Given the description of an element on the screen output the (x, y) to click on. 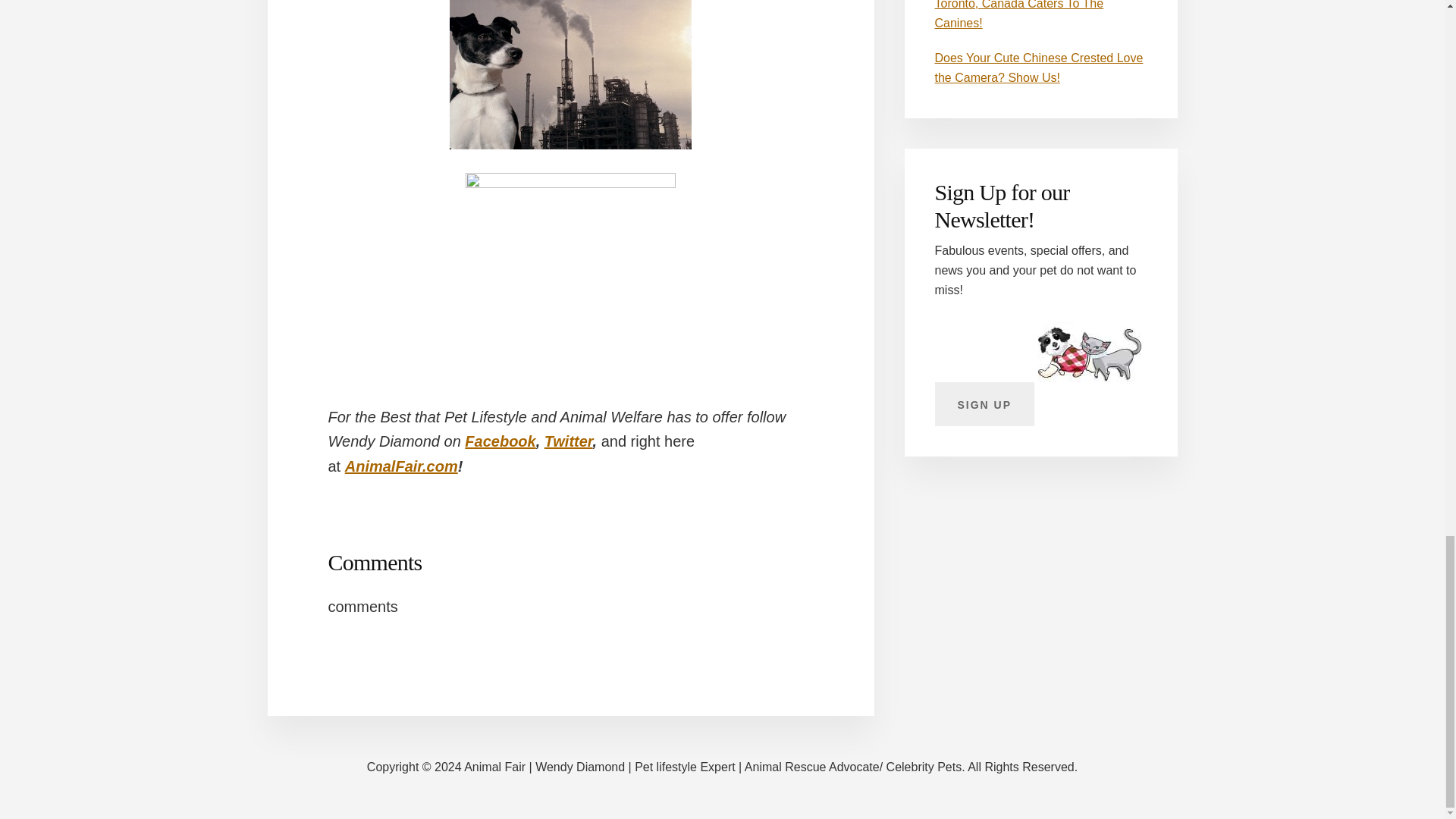
Sign Up (983, 403)
thousand hounds  (570, 74)
thousand hounds  (570, 253)
